Given the description of an element on the screen output the (x, y) to click on. 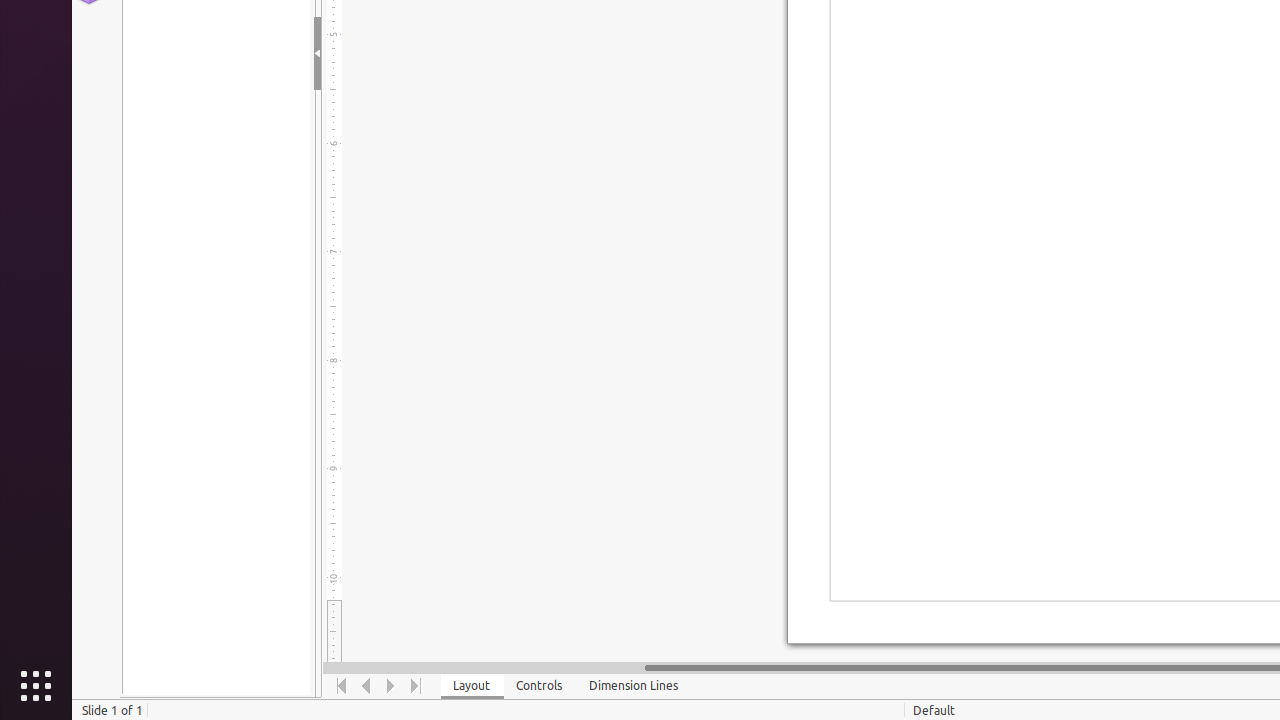
Move Left Element type: push-button (366, 686)
Dimension Lines Element type: page-tab (634, 686)
Layout Element type: page-tab (472, 686)
Controls Element type: page-tab (540, 686)
Move To Home Element type: push-button (341, 686)
